Given the description of an element on the screen output the (x, y) to click on. 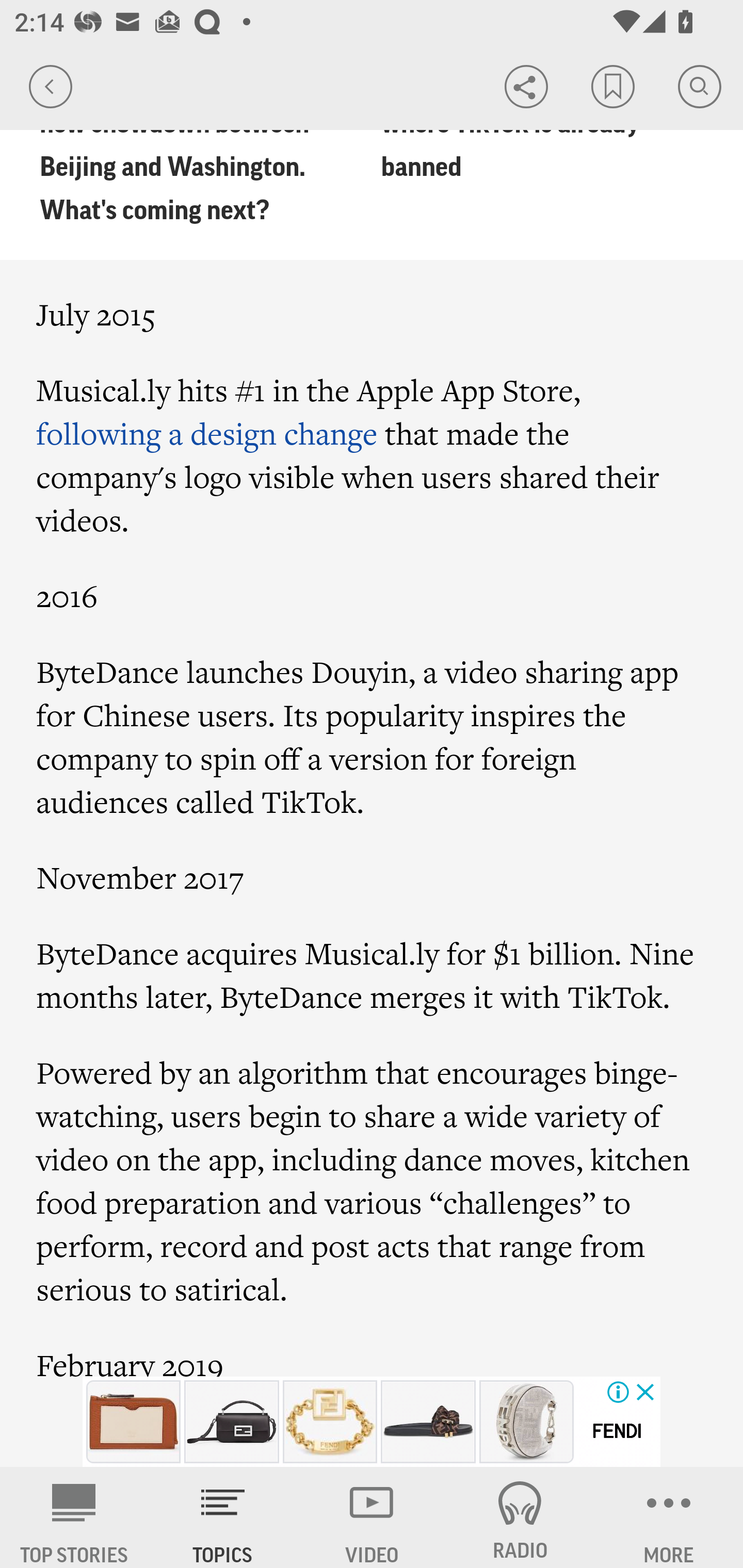
following a design change (207, 432)
fendi-feel-brown-satin-slides-8x8142ae7sf0r7v (428, 1420)
AP News TOP STORIES (74, 1517)
TOPICS (222, 1517)
VIDEO (371, 1517)
RADIO (519, 1517)
MORE (668, 1517)
